Given the description of an element on the screen output the (x, y) to click on. 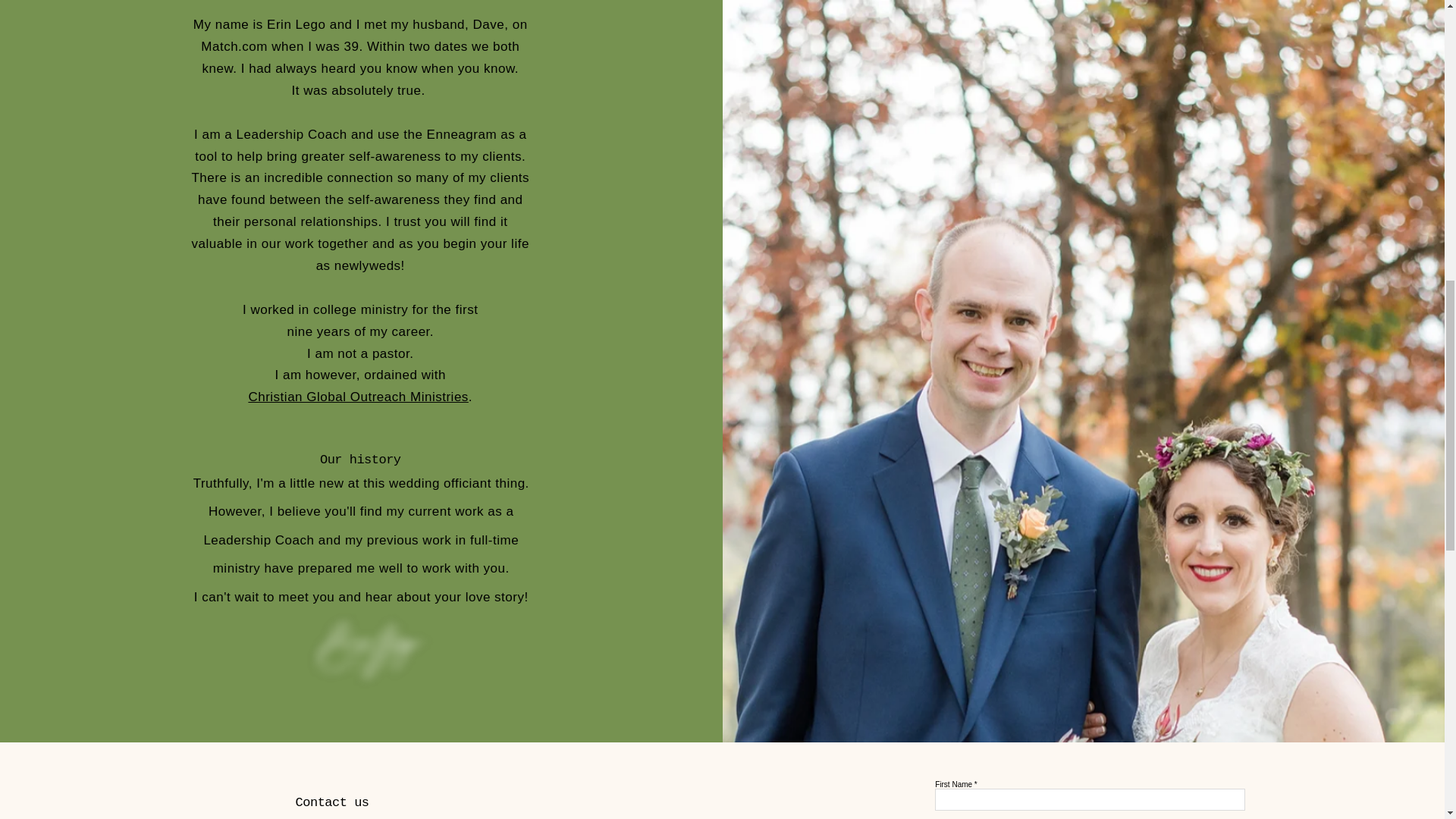
Christian Global Outreach Ministries (357, 396)
Erin-Lego-white-high-res.png (374, 653)
